Given the description of an element on the screen output the (x, y) to click on. 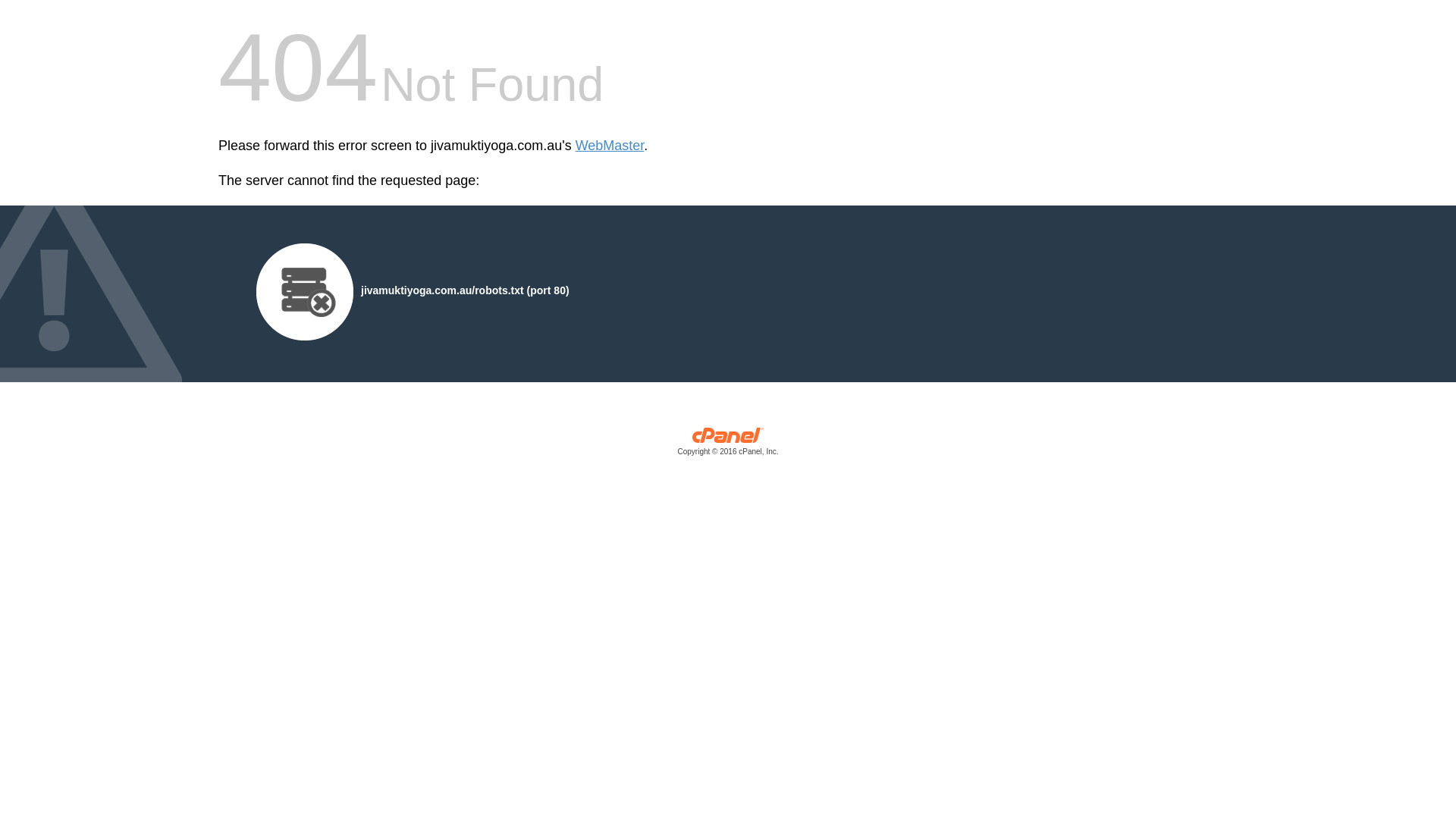
WebMaster Element type: text (609, 145)
